Given the description of an element on the screen output the (x, y) to click on. 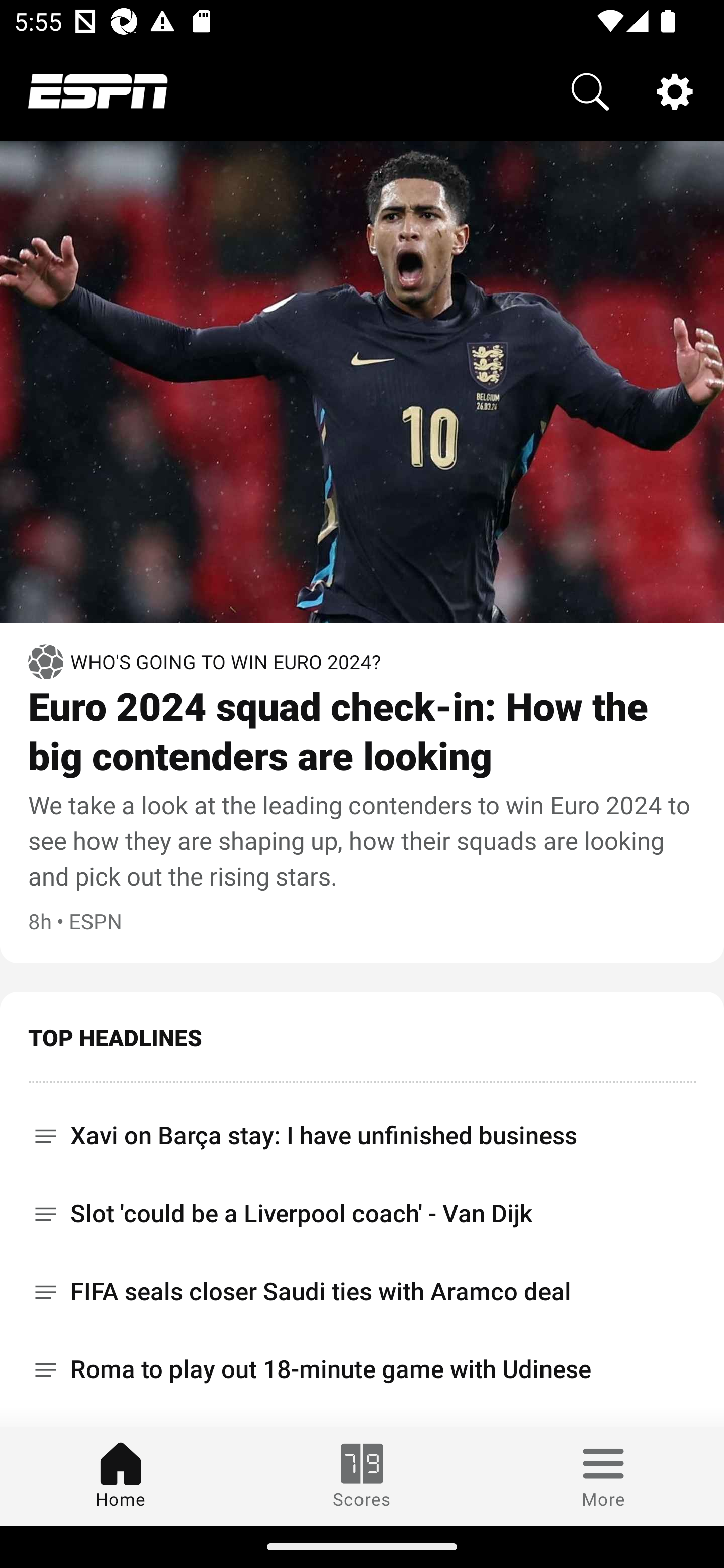
Search (590, 90)
Settings (674, 90)
 Xavi on Barça stay: I have unfinished business (362, 1128)
 Slot 'could be a Liverpool coach' - Van Dijk (362, 1213)
 FIFA seals closer Saudi ties with Aramco deal (362, 1291)
 Roma to play out 18-minute game with Udinese (362, 1369)
Scores (361, 1475)
More (603, 1475)
